Given the description of an element on the screen output the (x, y) to click on. 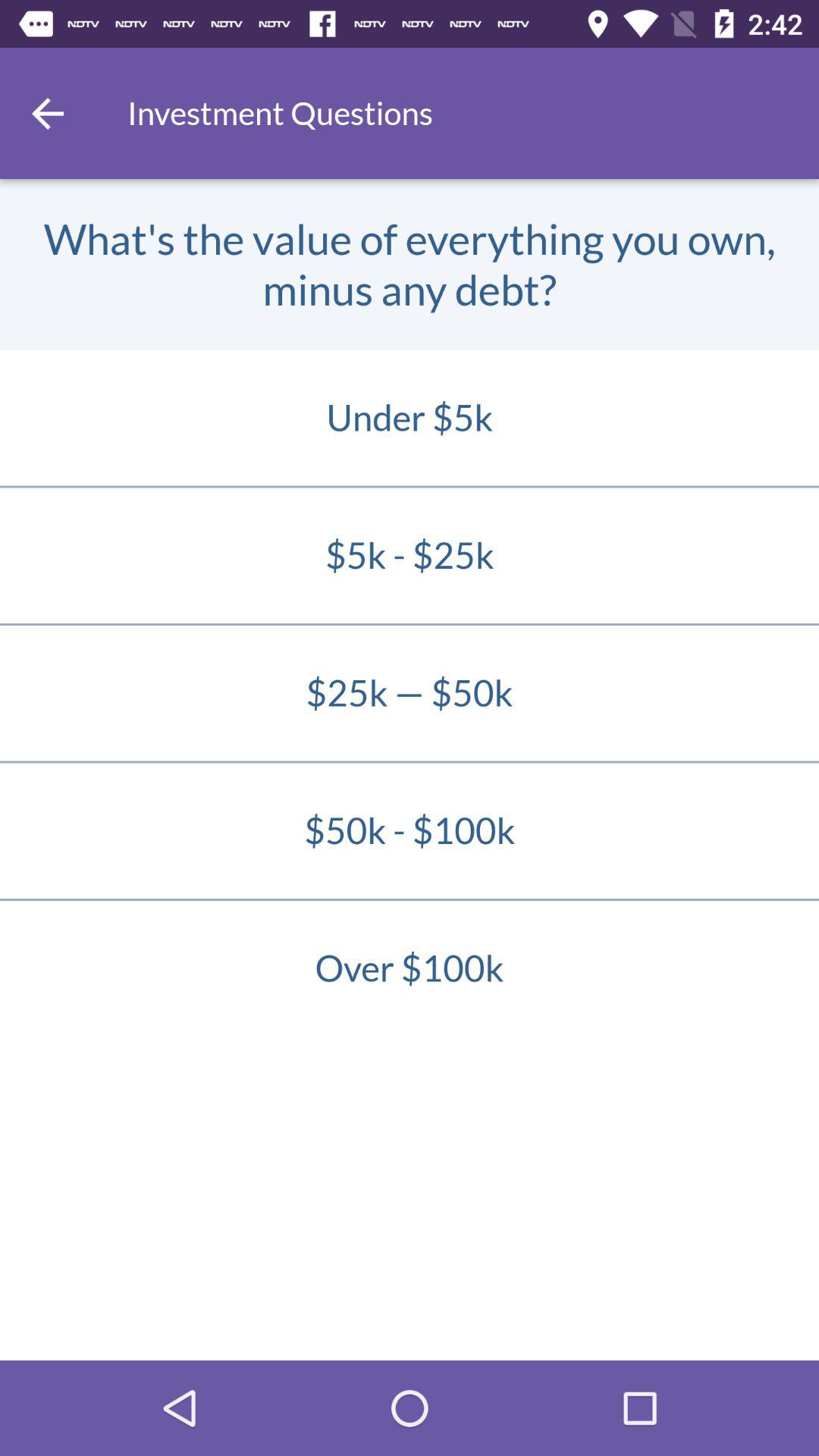
choose the icon above the what s the icon (47, 113)
